Given the description of an element on the screen output the (x, y) to click on. 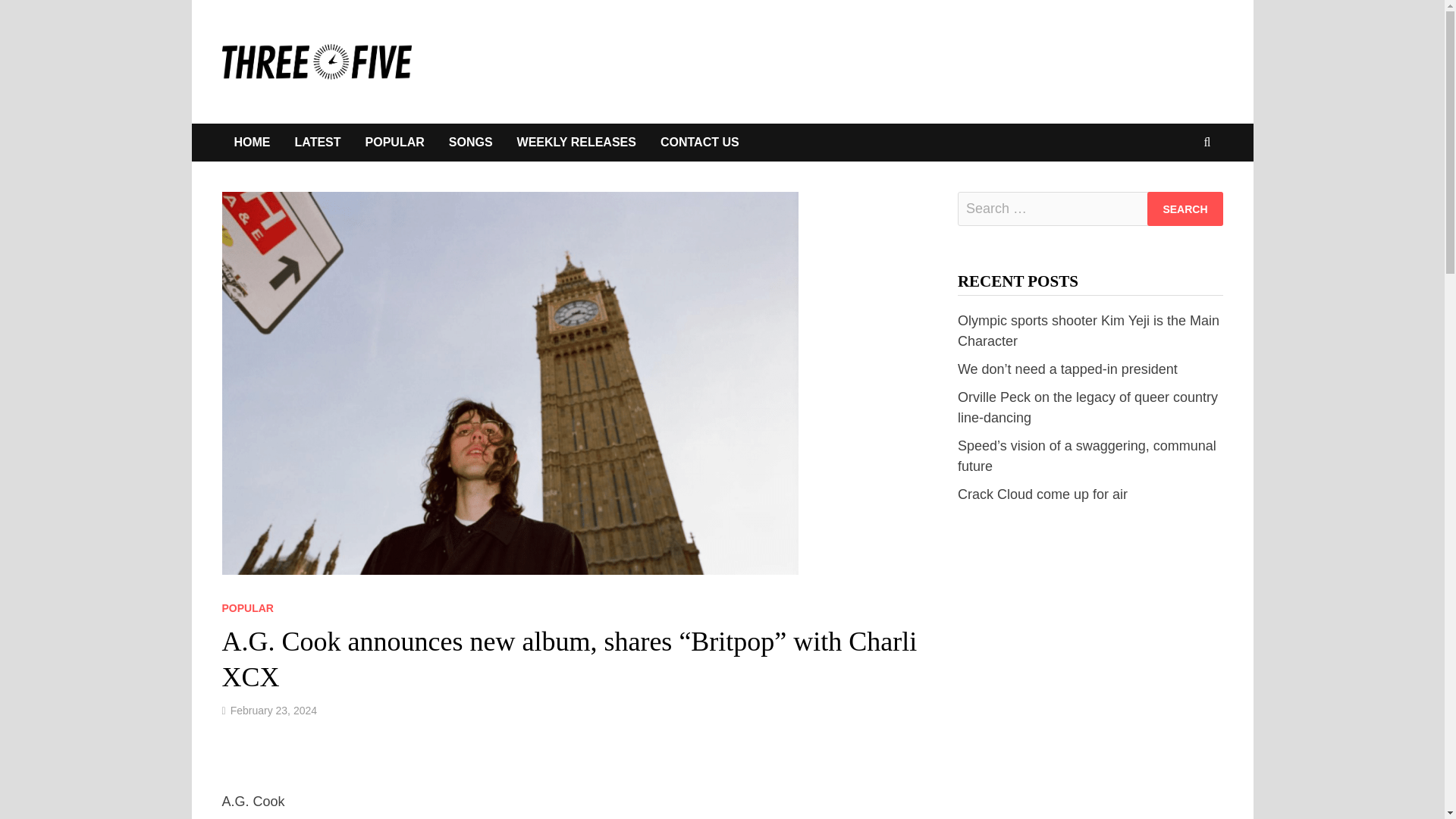
Search (1185, 208)
LATEST (317, 142)
February 23, 2024 (273, 710)
WEEKLY RELEASES (576, 142)
HOME (251, 142)
Search (1185, 208)
Search (1185, 208)
POPULAR (247, 607)
SONGS (470, 142)
CONTACT US (699, 142)
POPULAR (394, 142)
